Given the description of an element on the screen output the (x, y) to click on. 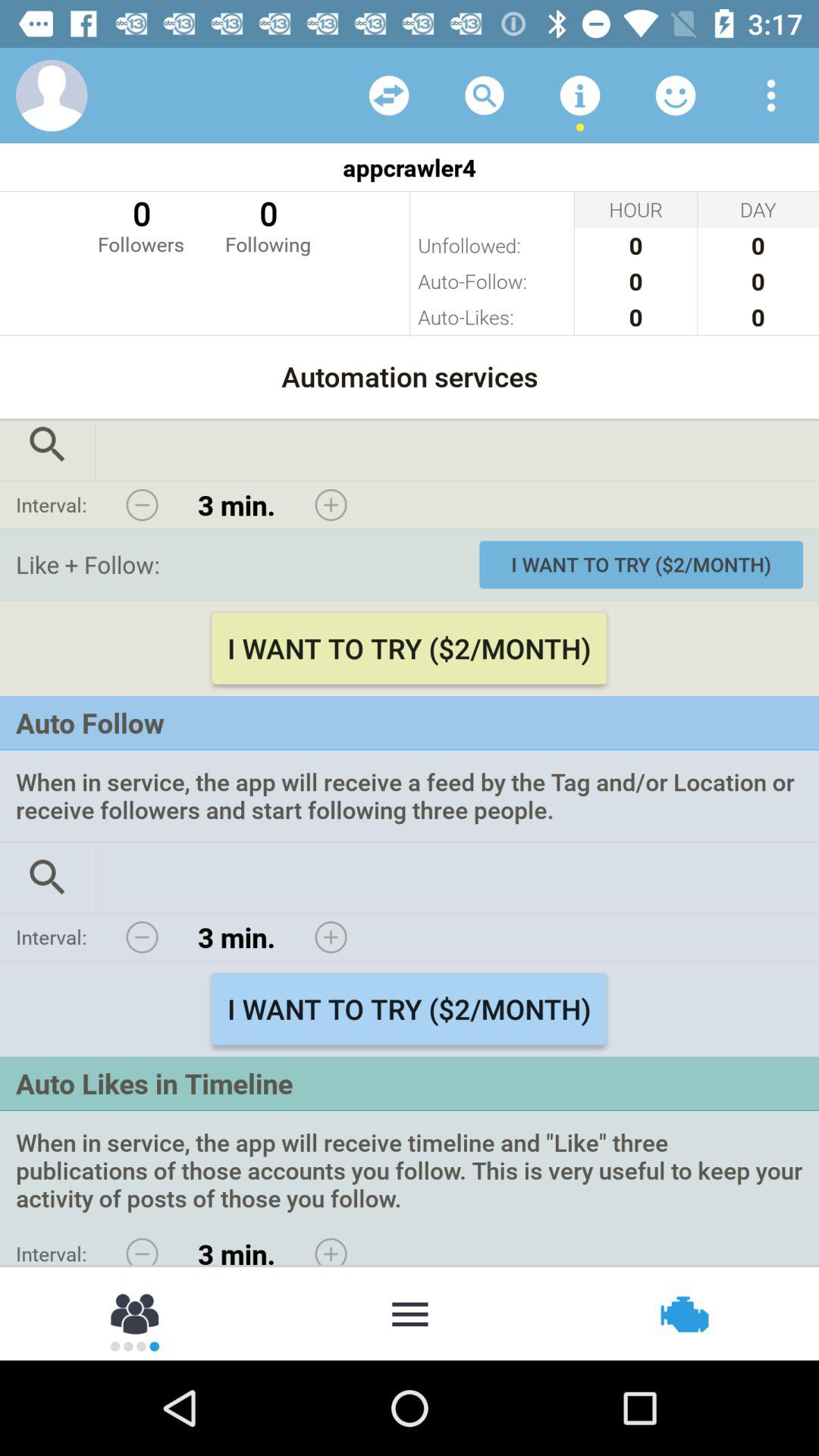
add time (330, 937)
